Given the description of an element on the screen output the (x, y) to click on. 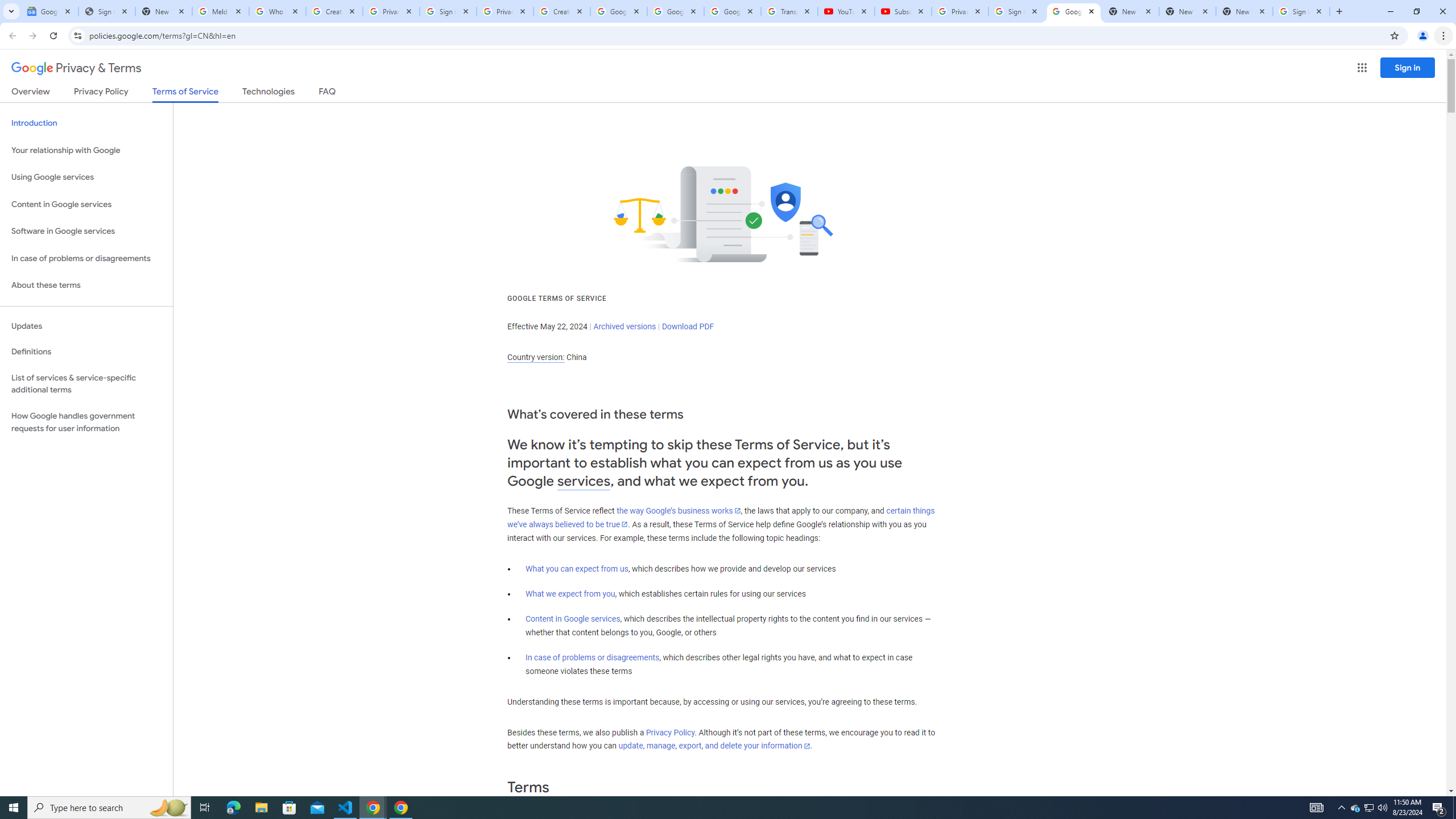
What we expect from you (570, 593)
Google News (49, 11)
New Tab (1244, 11)
Software in Google services (86, 230)
